Given the description of an element on the screen output the (x, y) to click on. 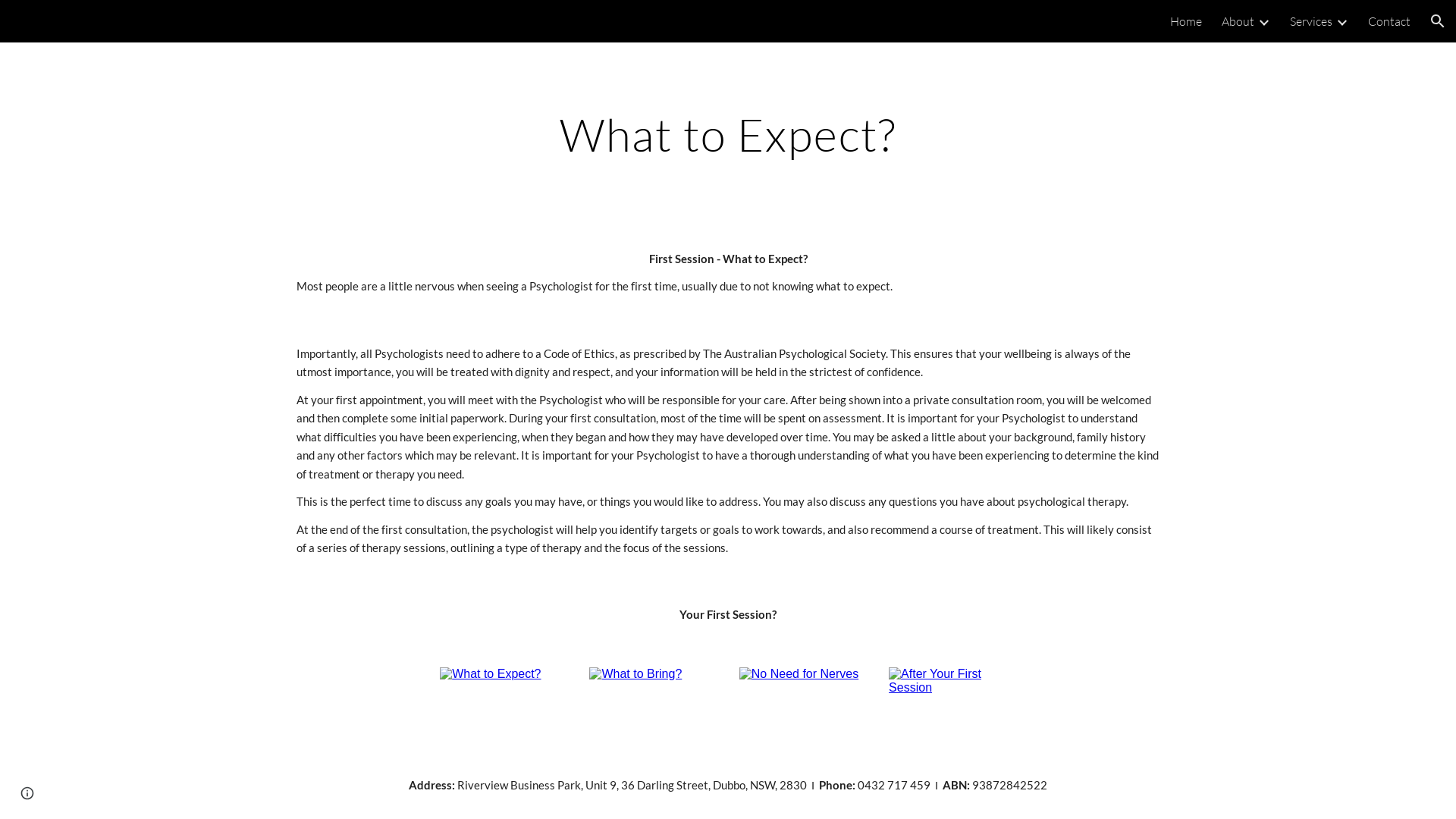
Home Element type: text (1185, 20)
Expand/Collapse Element type: hover (1341, 20)
Services Element type: text (1310, 20)
About Element type: text (1237, 20)
Expand/Collapse Element type: hover (1263, 20)
Contact Element type: text (1389, 20)
